Given the description of an element on the screen output the (x, y) to click on. 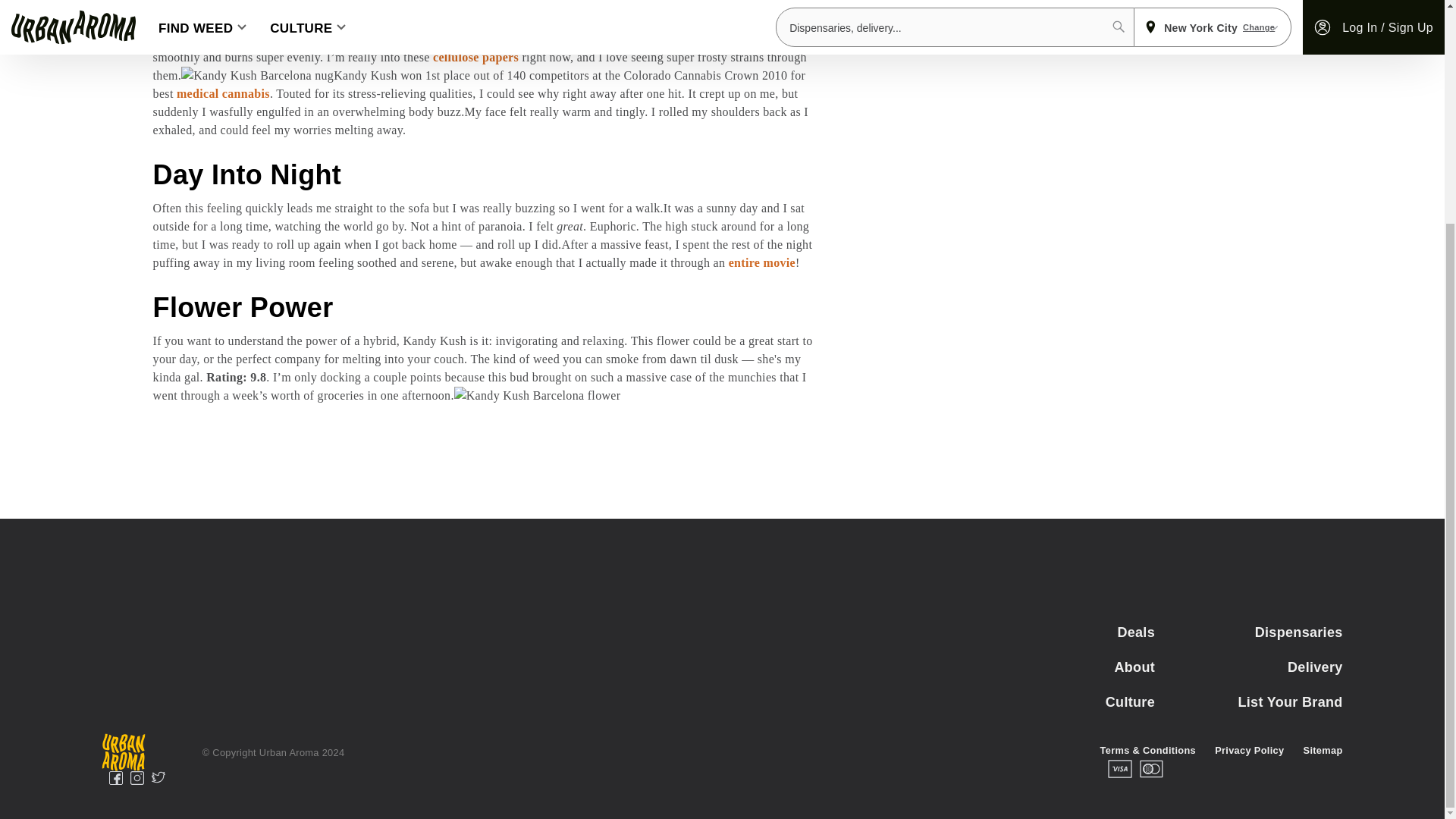
Dispensaries (1248, 632)
Culture (1060, 702)
List Your Brand (1248, 702)
OG Kush (552, 20)
Delivery (1248, 667)
Deals (1060, 632)
About (1060, 667)
entire movie (761, 262)
cellulose papers (475, 56)
Train Wreck (480, 20)
